Given the description of an element on the screen output the (x, y) to click on. 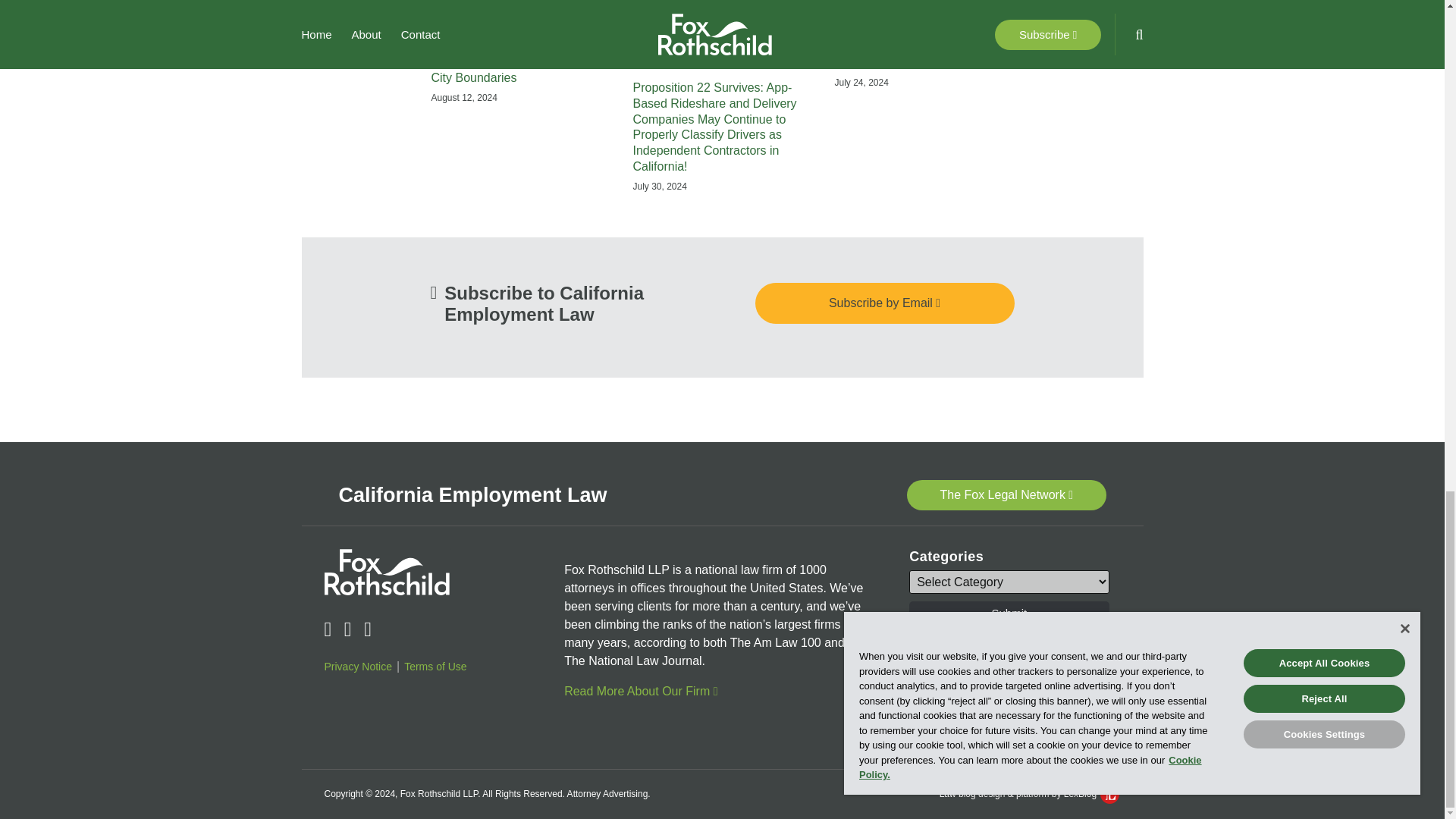
LexBlog Logo (1109, 793)
Submit (1008, 612)
Privacy Notice (357, 666)
Read More About Our Firm (640, 690)
Terms of Use (434, 666)
Submit (1013, 711)
Pay Attention to Those California City Boundaries (520, 70)
The Fox Legal Network (1006, 494)
California Employment Law (472, 495)
